Given the description of an element on the screen output the (x, y) to click on. 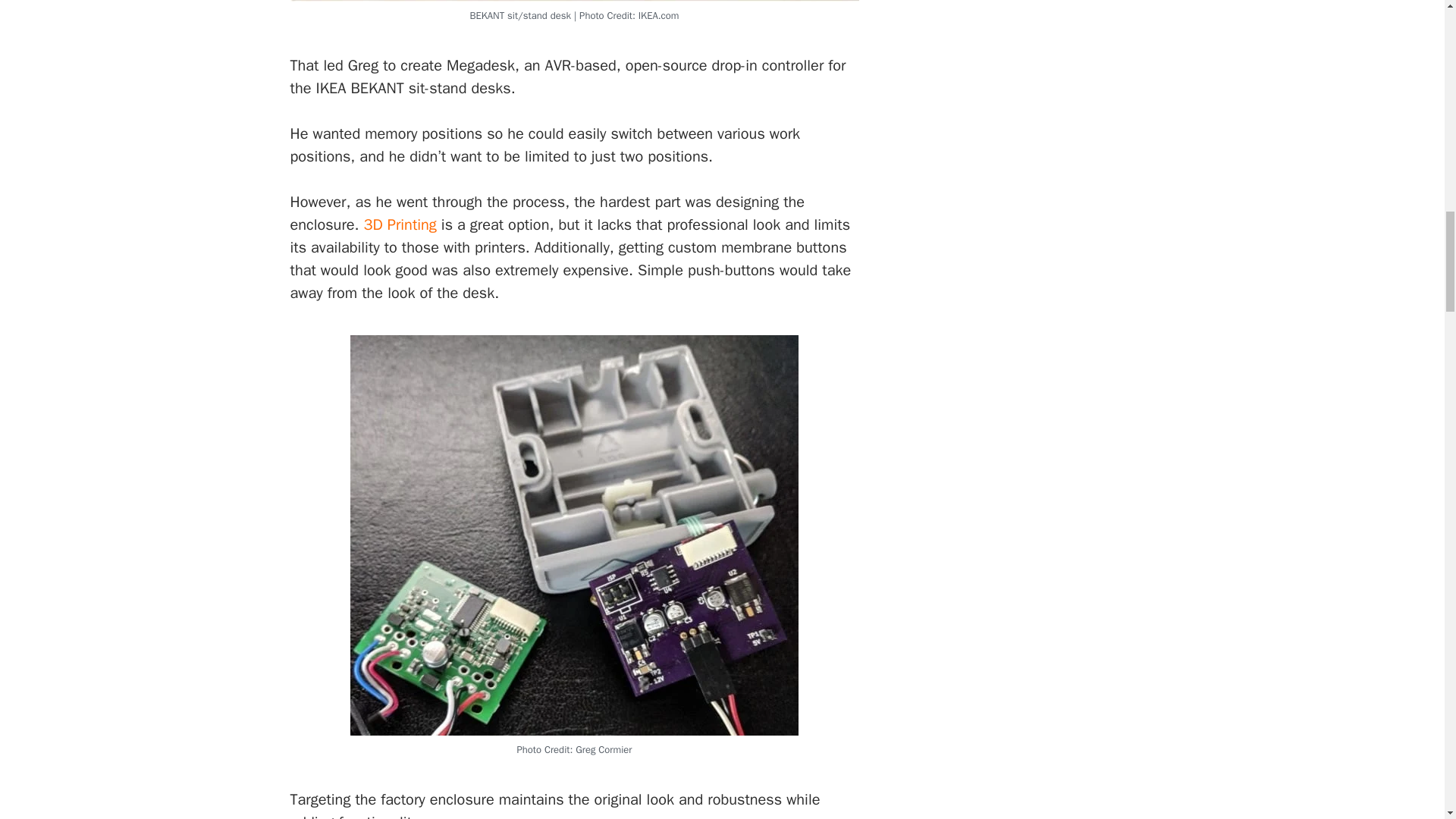
3D Printing (400, 224)
